Given the description of an element on the screen output the (x, y) to click on. 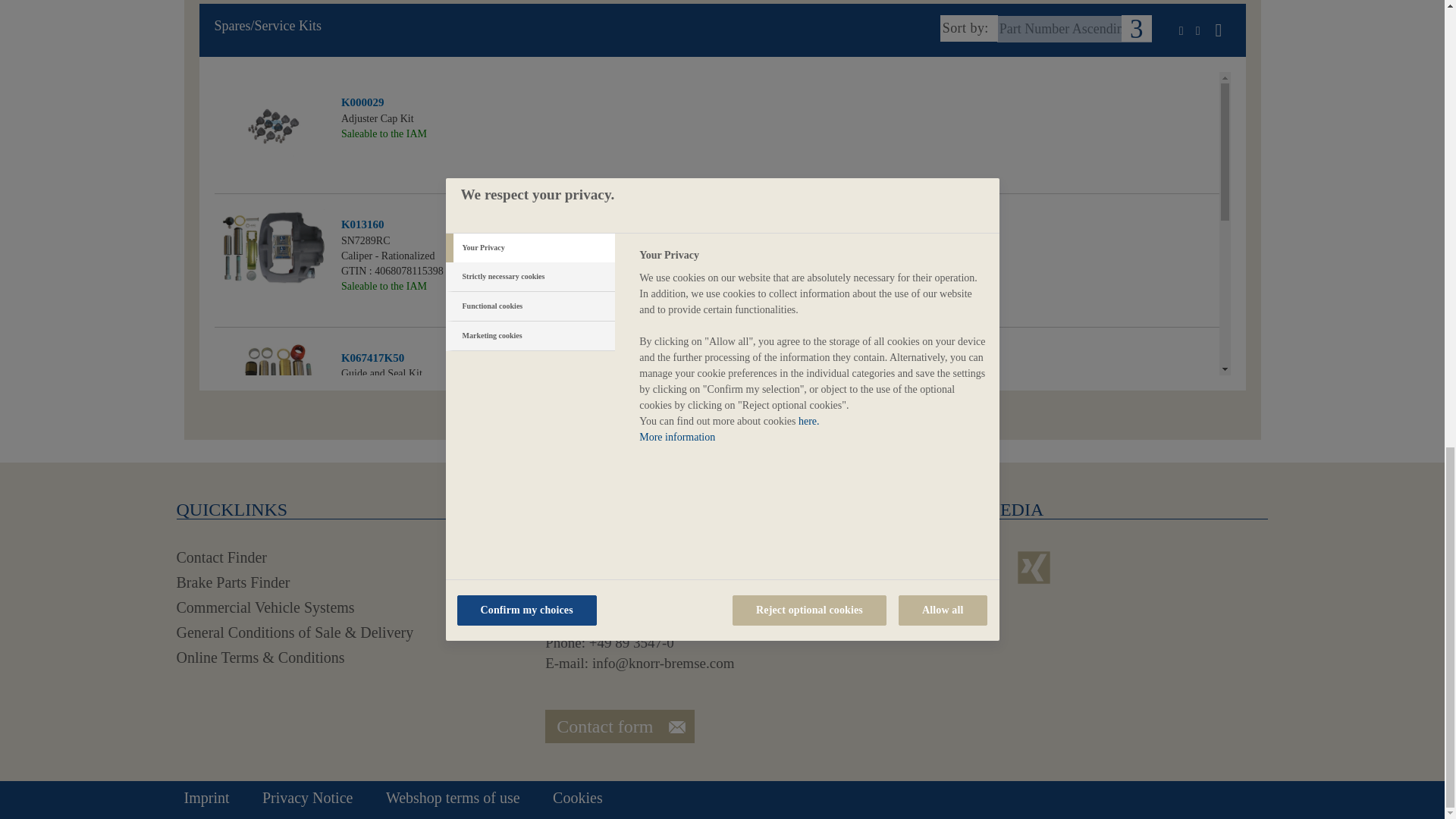
Brake Parts Finder (232, 582)
Commercial Vehicle Systems (264, 606)
Contact Finder (221, 556)
Brake Carrier (273, 510)
Caliper - Rationalized (274, 254)
Guide and Seal Kit (273, 388)
Tappets Kit (274, 632)
